Given the description of an element on the screen output the (x, y) to click on. 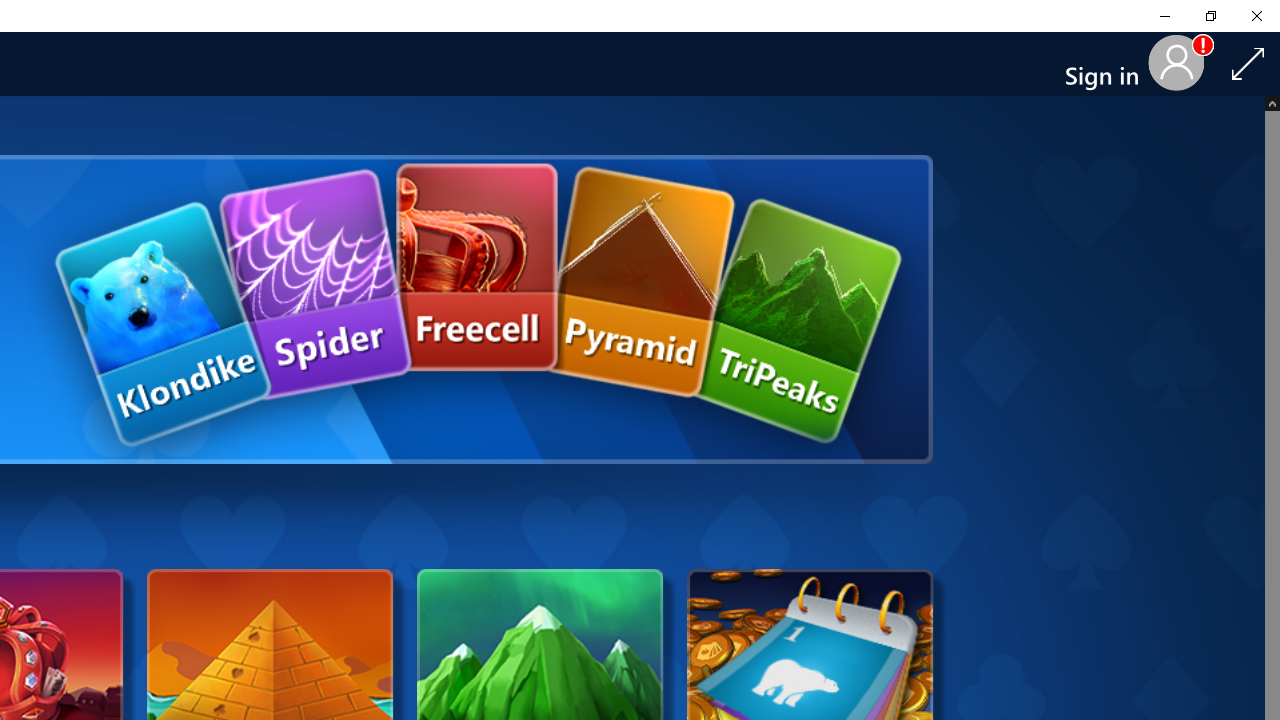
Close Solitaire & Casual Games (1256, 15)
Minimize Solitaire & Casual Games (1164, 15)
Sign in (1109, 64)
Full Screen View (1248, 63)
AutomationID: up_arrow_0 (1272, 102)
Restore Solitaire & Casual Games (1210, 15)
